Given the description of an element on the screen output the (x, y) to click on. 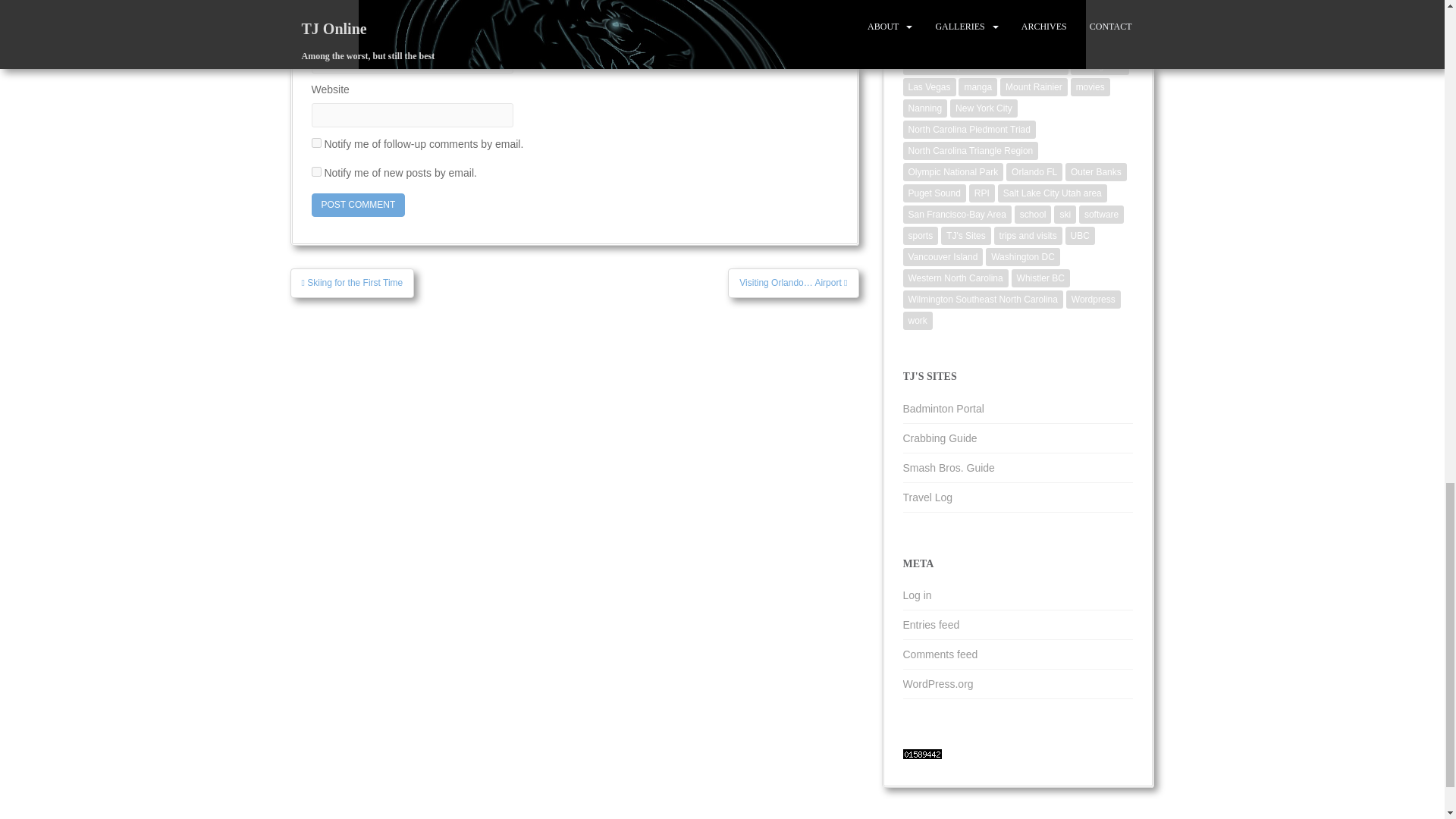
A guide to Super Smash Bros. for the N64 (948, 467)
subscribe (315, 143)
subscribe (315, 171)
Post Comment (357, 205)
A simple guide to catching crabs near Vancouver, Canada (939, 438)
Skiing for the First Time (351, 282)
Post Comment (357, 205)
A badminton website with articles in English and Chinese (943, 408)
